Given the description of an element on the screen output the (x, y) to click on. 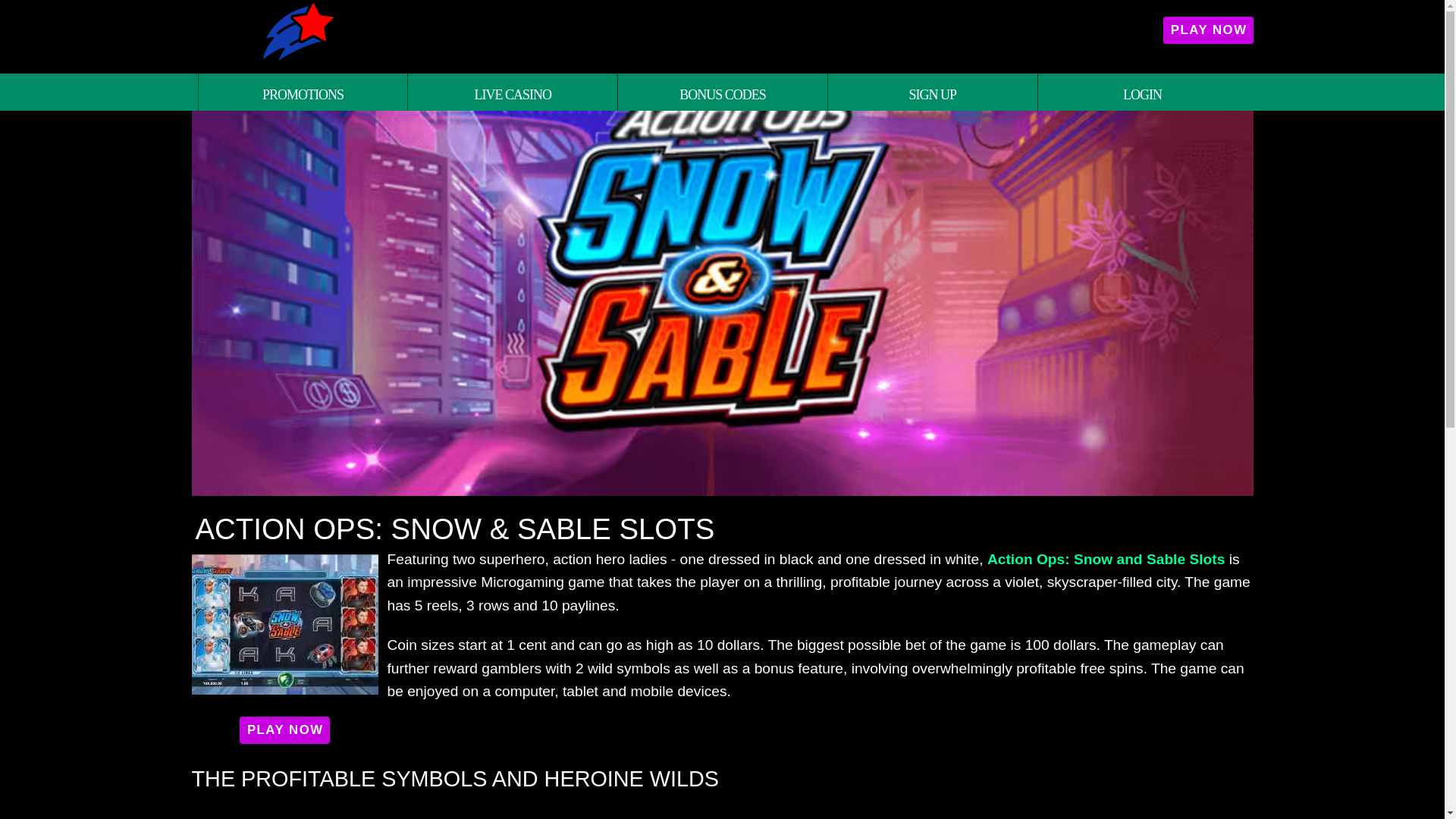
PLAY NOW (284, 729)
Action Ops: Snow and Sable Slots (1105, 559)
BONUS CODES (722, 91)
PROMOTIONS (301, 91)
SIGN UP (931, 91)
LOGIN (1141, 91)
PLAY NOW (1207, 30)
LIVE CASINO (512, 91)
